Given the description of an element on the screen output the (x, y) to click on. 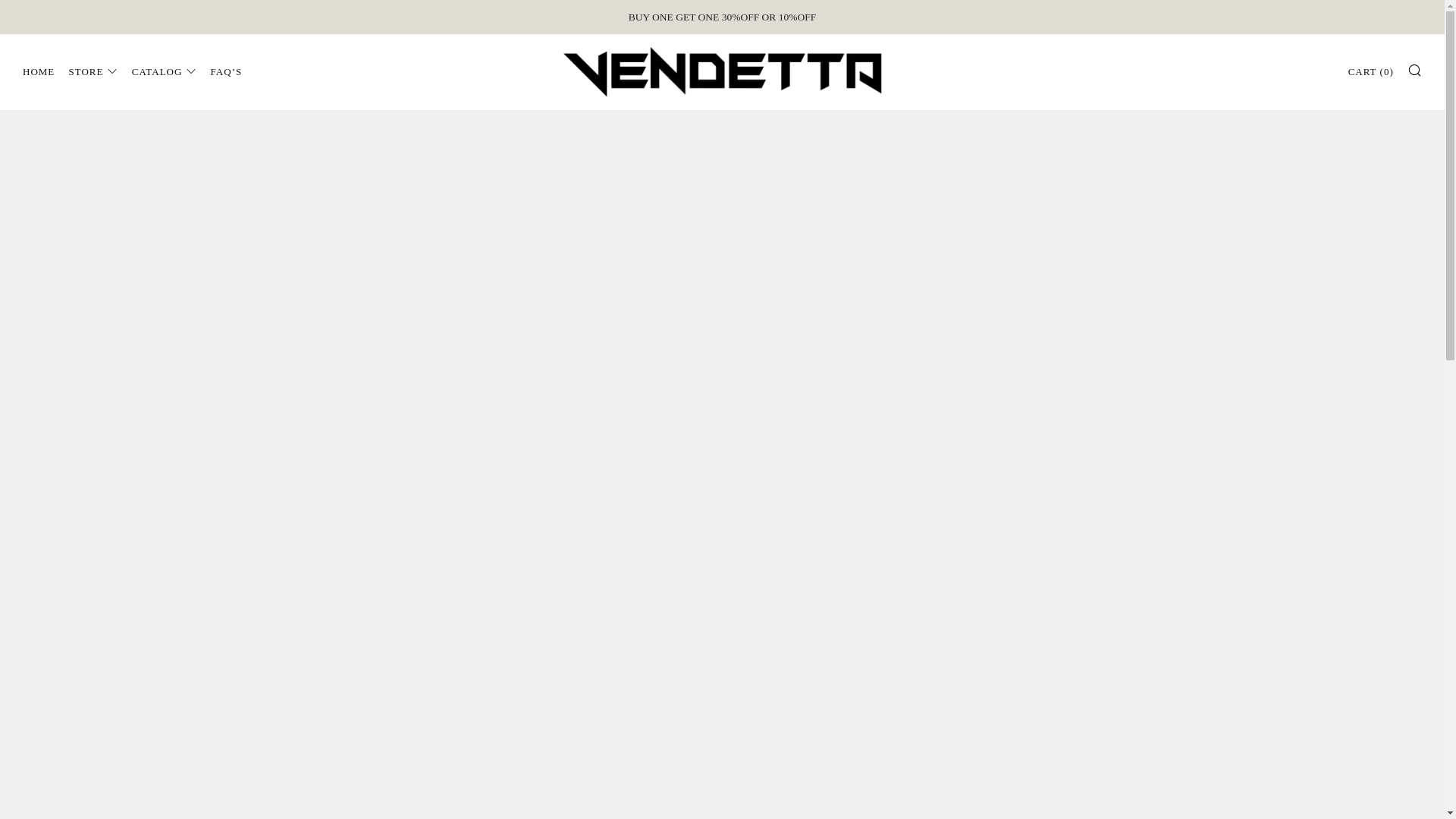
CATALOG (164, 70)
HOME (39, 70)
SEARCH (1414, 69)
STORE (92, 70)
